Given the description of an element on the screen output the (x, y) to click on. 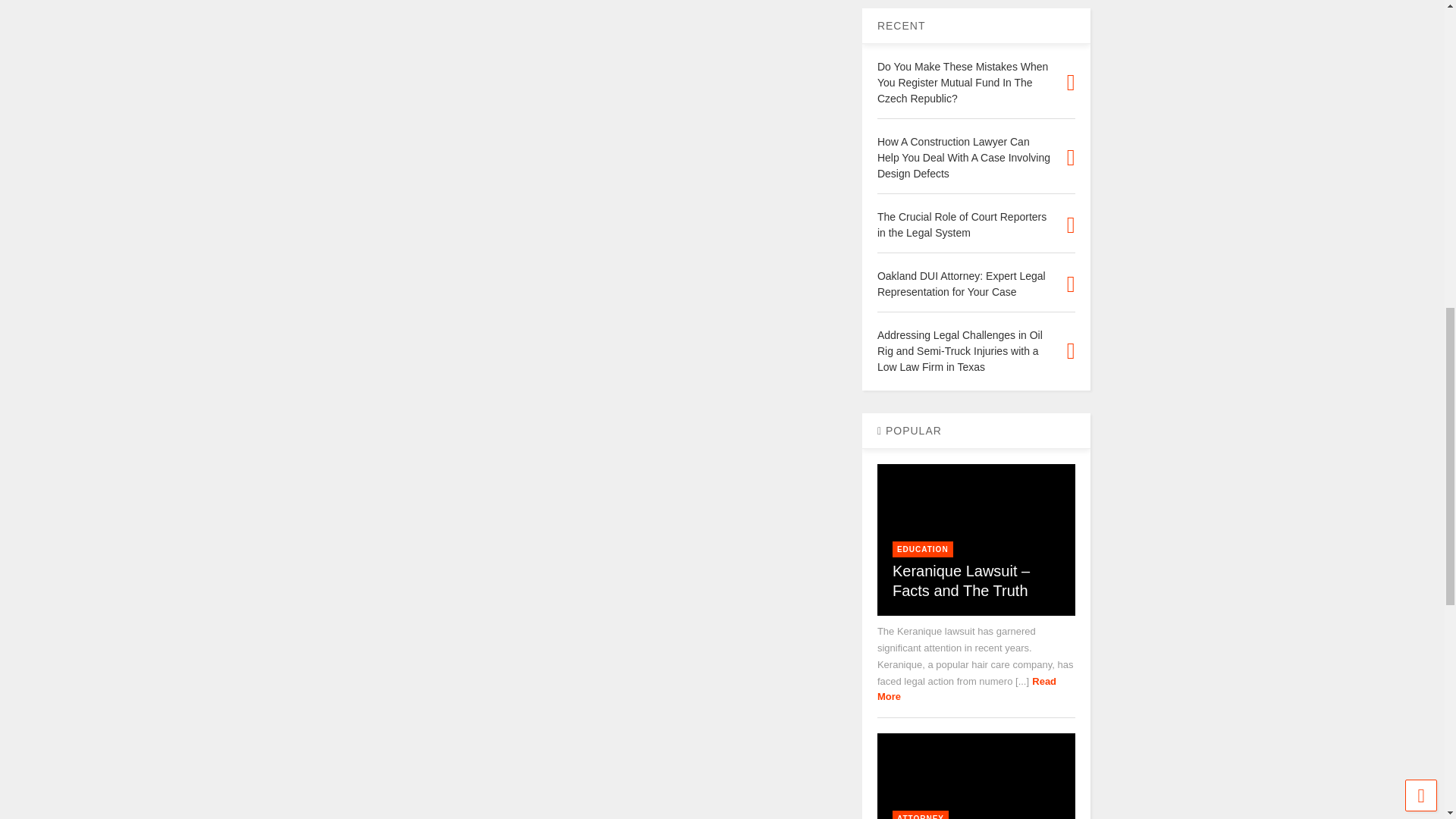
RECENT (901, 25)
The Crucial Role of Court Reporters in the Legal System (961, 224)
